Given the description of an element on the screen output the (x, y) to click on. 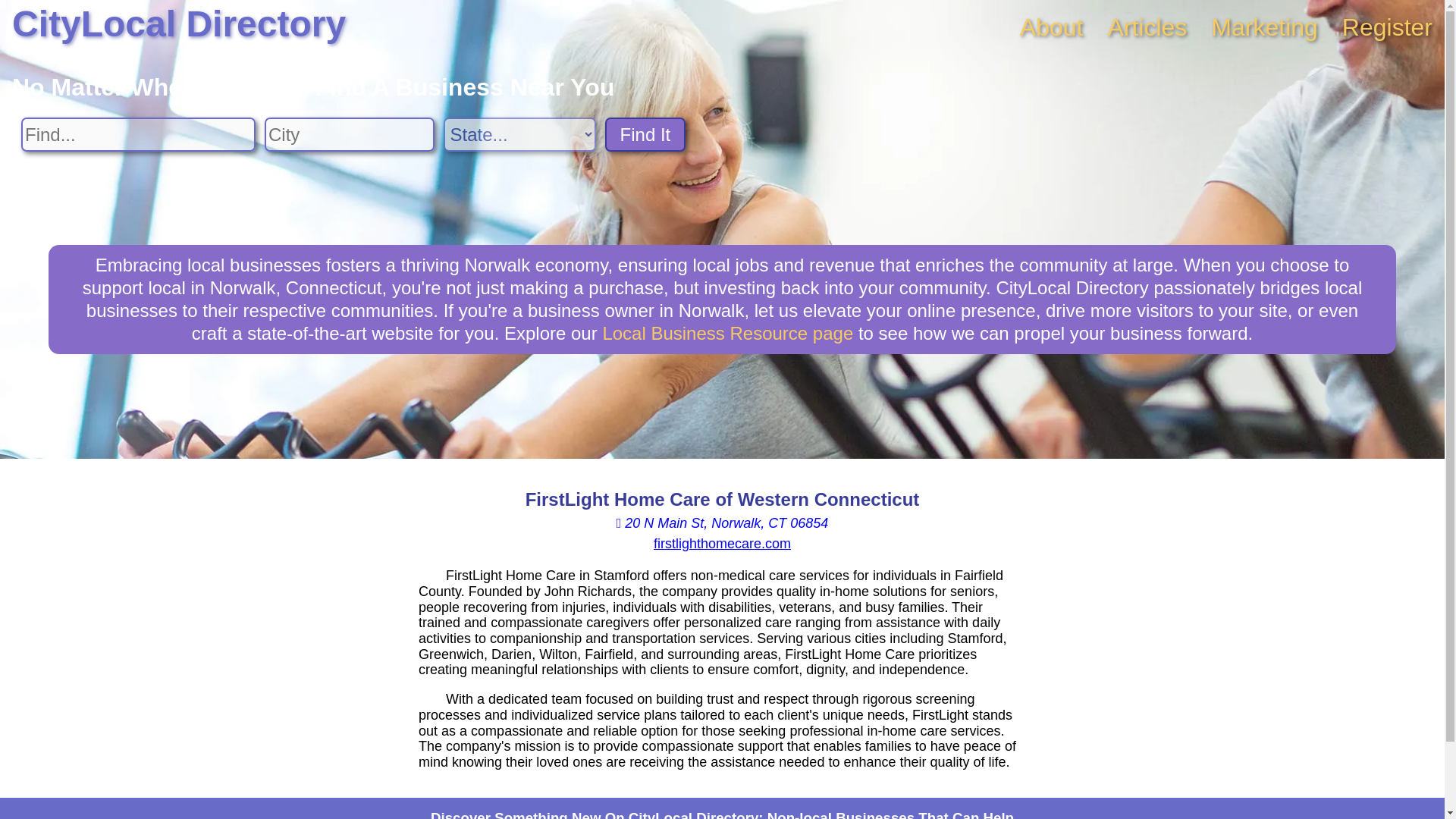
Local Business Resources (727, 332)
View on Google Maps (721, 523)
Business Marketing Opportunites (1264, 27)
About CityLocal Directory (1051, 27)
Register My Business (1387, 27)
Articles (1146, 27)
Register (1387, 27)
Marketing (1264, 27)
Local Business Resource page (727, 332)
firstlighthomecare.com (721, 543)
